Given the description of an element on the screen output the (x, y) to click on. 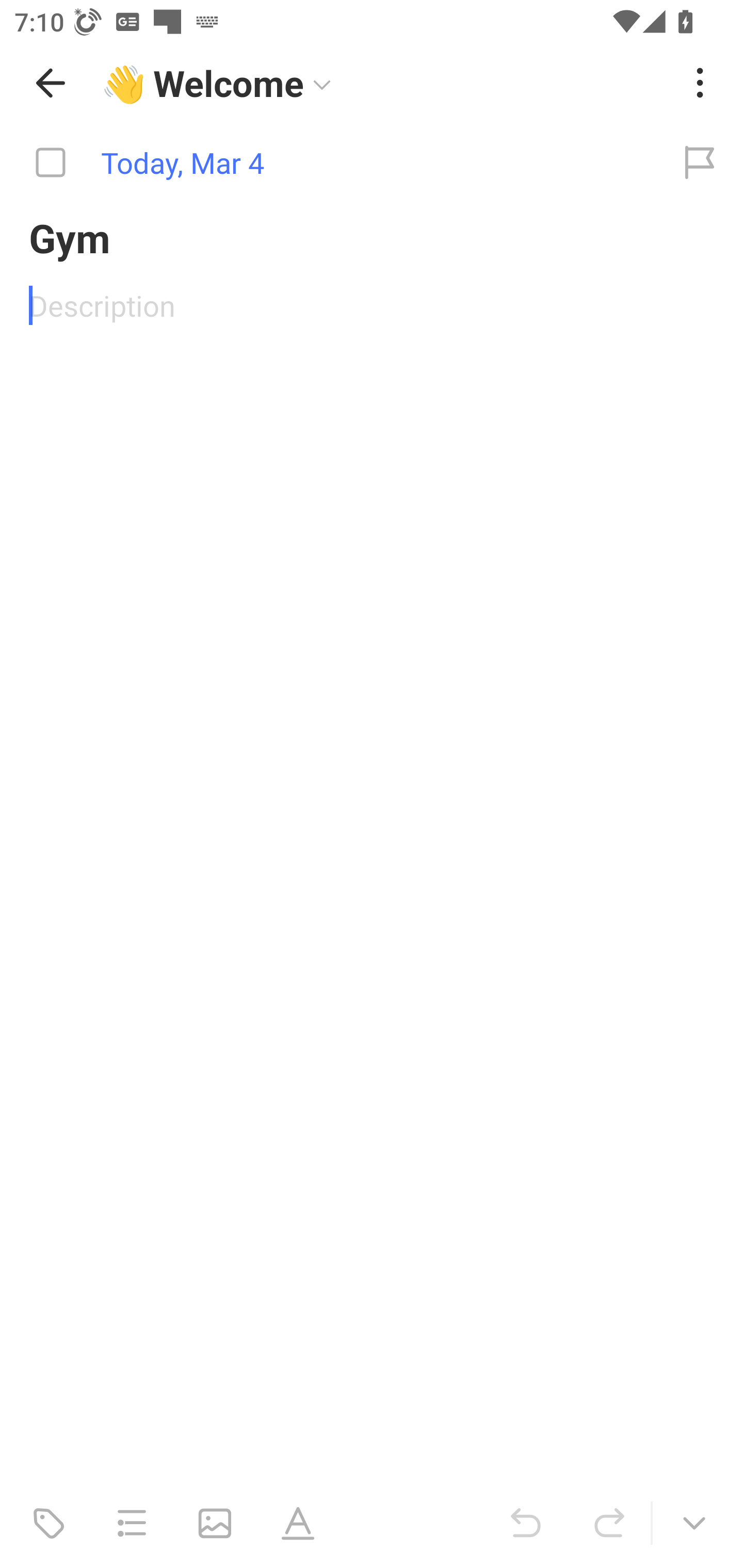
👋 Welcome (384, 82)
Today, Mar 4  (328, 163)
Gym (371, 238)
Description (371, 304)
